Given the description of an element on the screen output the (x, y) to click on. 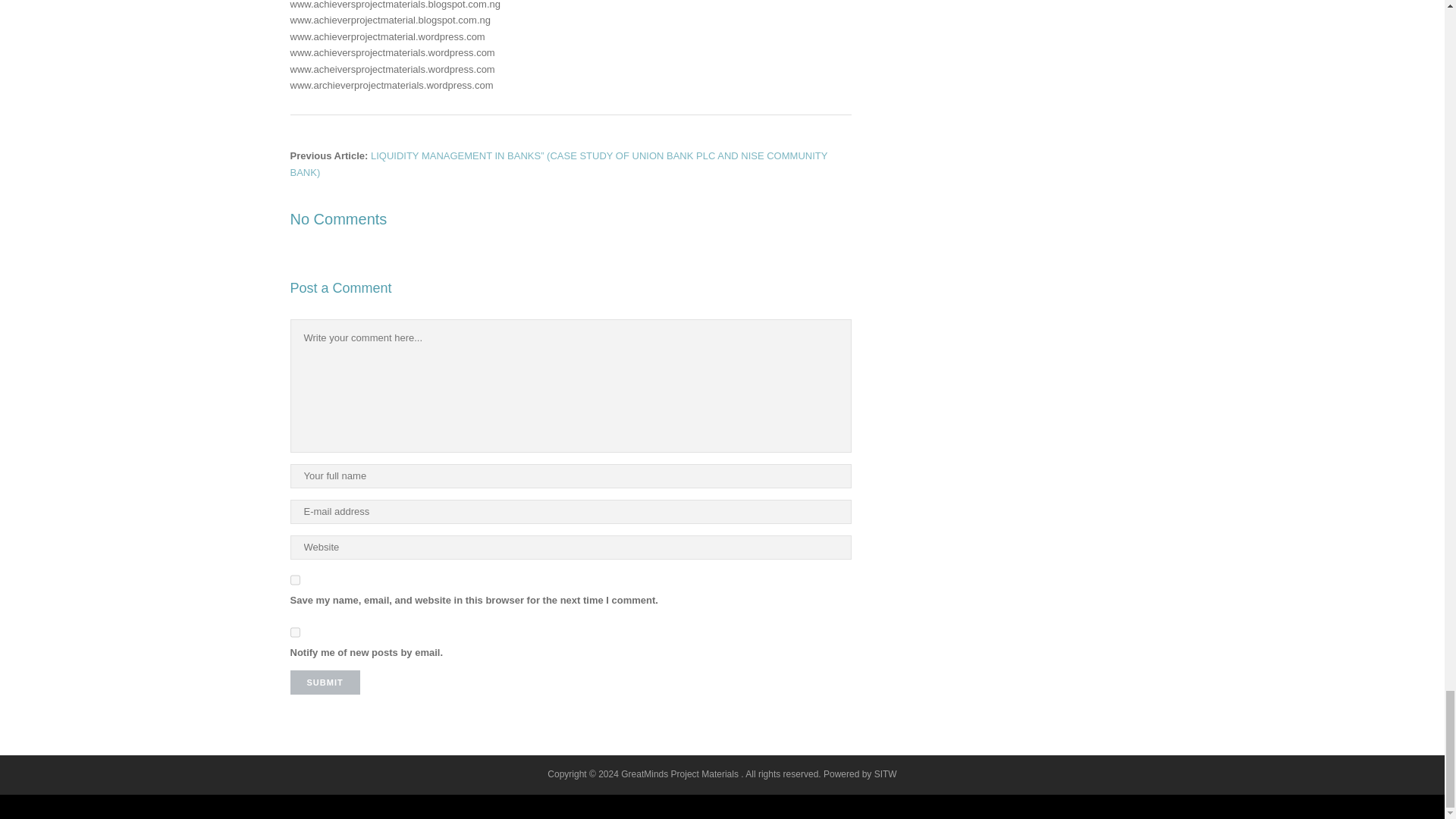
Submit (324, 682)
Submit (324, 682)
